Given the description of an element on the screen output the (x, y) to click on. 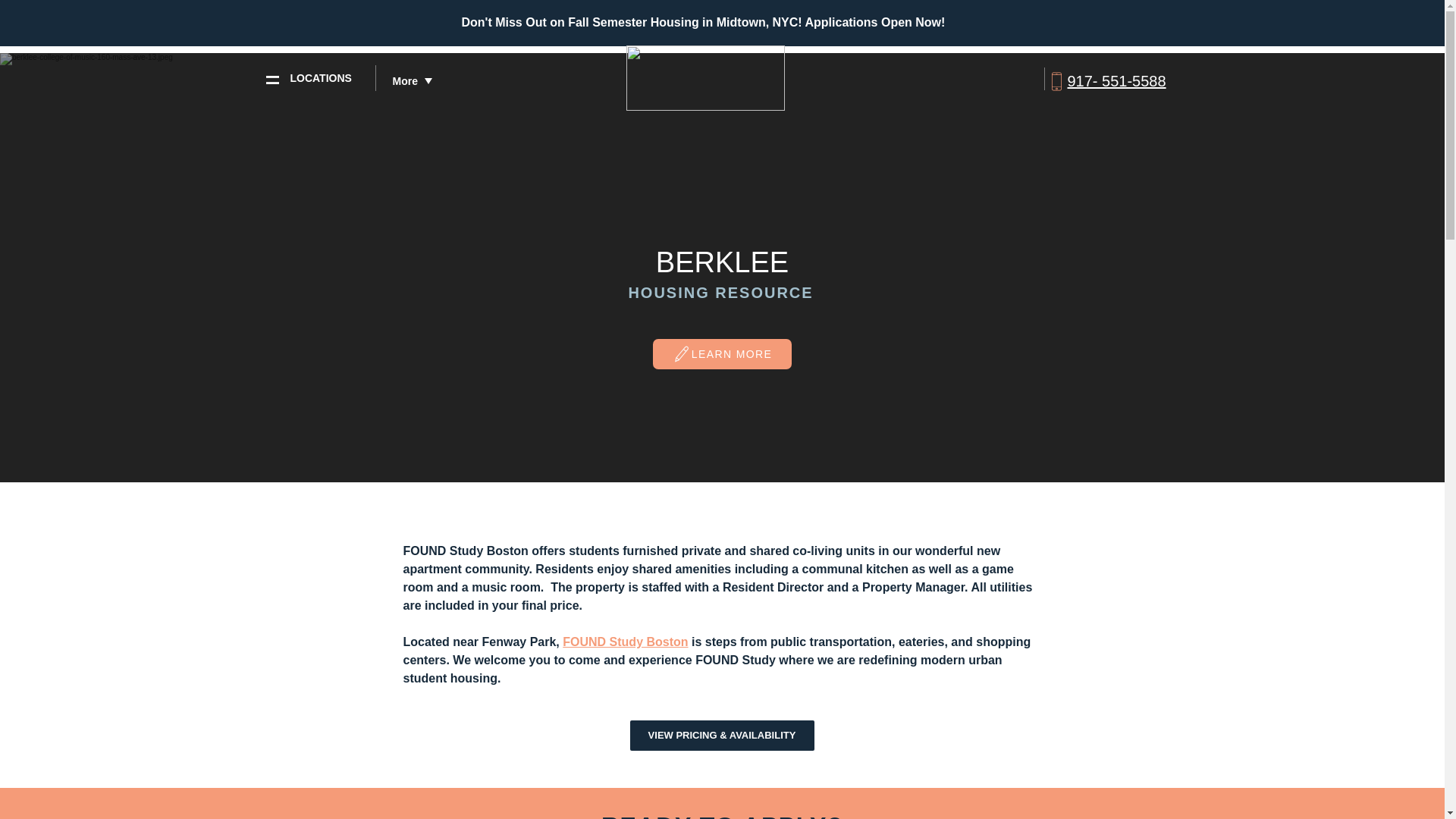
917- 551-5588 (1116, 80)
LOCATIONS (319, 78)
LEARN MORE (721, 354)
FOUND Study Boston (624, 641)
